Given the description of an element on the screen output the (x, y) to click on. 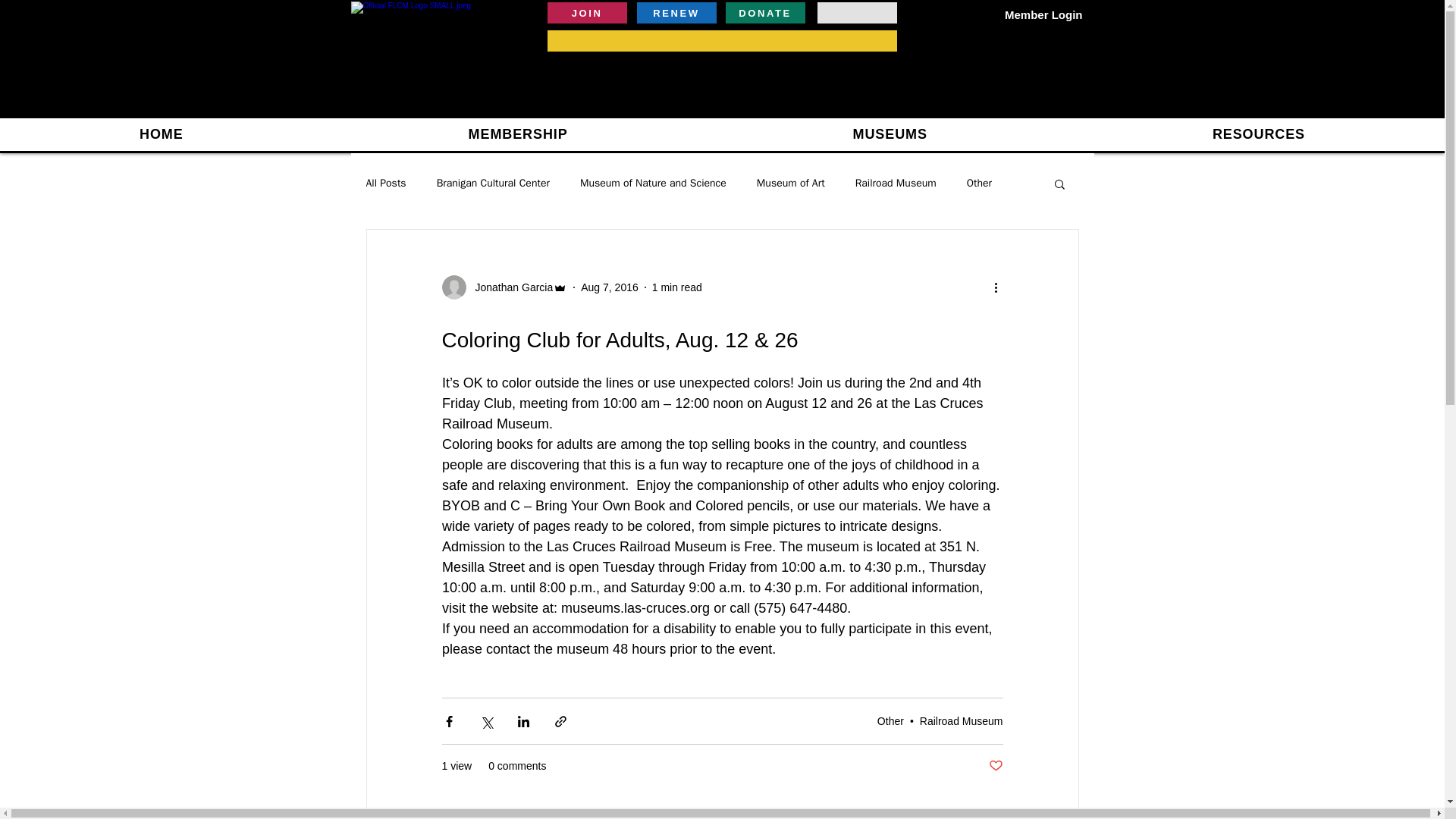
Post not marked as liked (995, 765)
Museum of Nature and Science (652, 183)
DONATE (765, 12)
RENEW (676, 12)
1 min read (676, 286)
Other (890, 720)
Railroad Museum (896, 183)
All Posts (385, 183)
Member Login (1043, 14)
JOIN (587, 12)
